Given the description of an element on the screen output the (x, y) to click on. 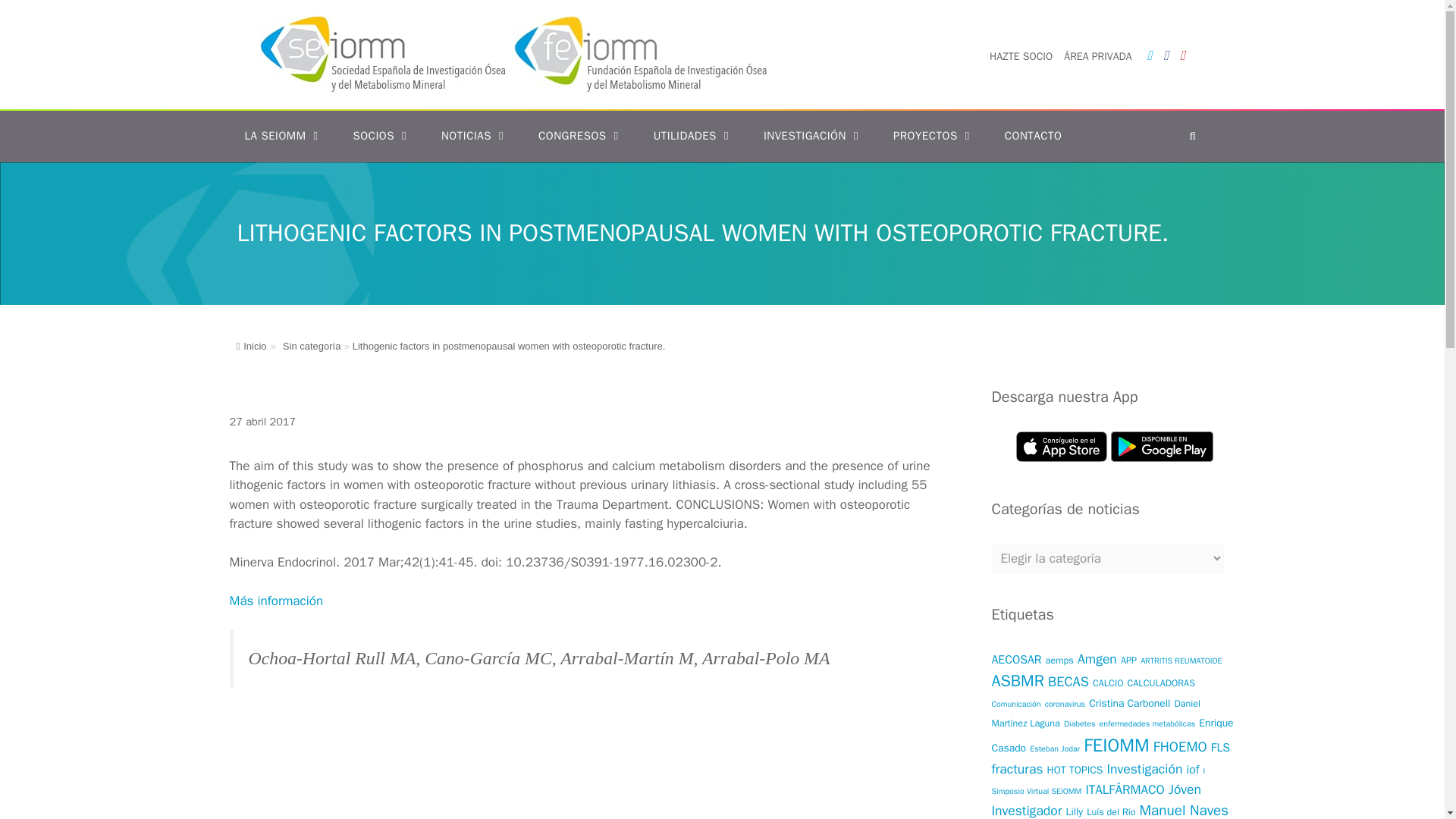
NOTICIAS (474, 135)
Category Name (309, 346)
HAZTE SOCIO (1021, 56)
SOCIOS (381, 135)
PROYECTOS (933, 135)
UTILIDADES (693, 135)
LA SEIOMM (282, 135)
CONGRESOS (580, 135)
